Given the description of an element on the screen output the (x, y) to click on. 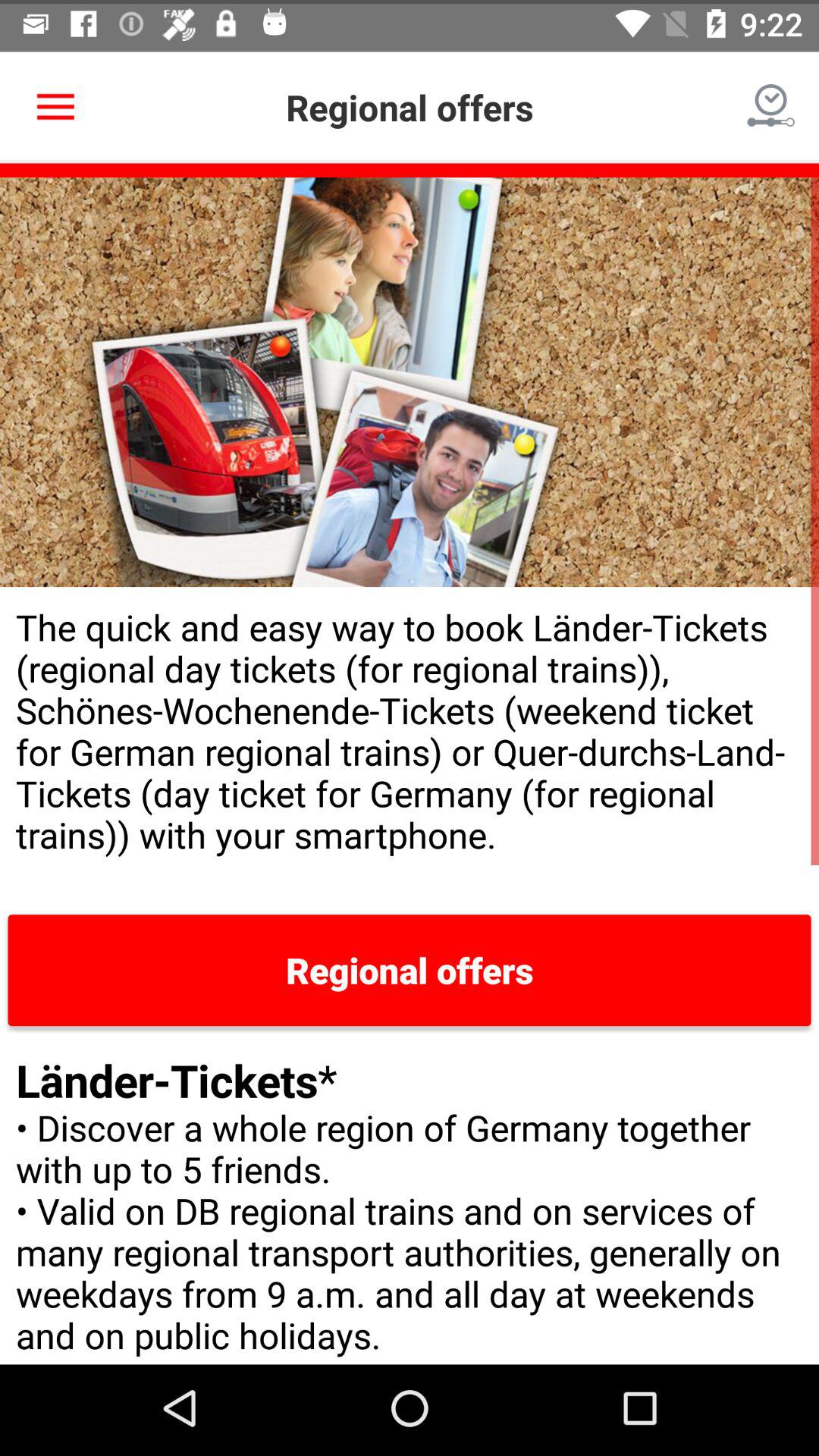
turn on the item at the top right corner (771, 103)
